Given the description of an element on the screen output the (x, y) to click on. 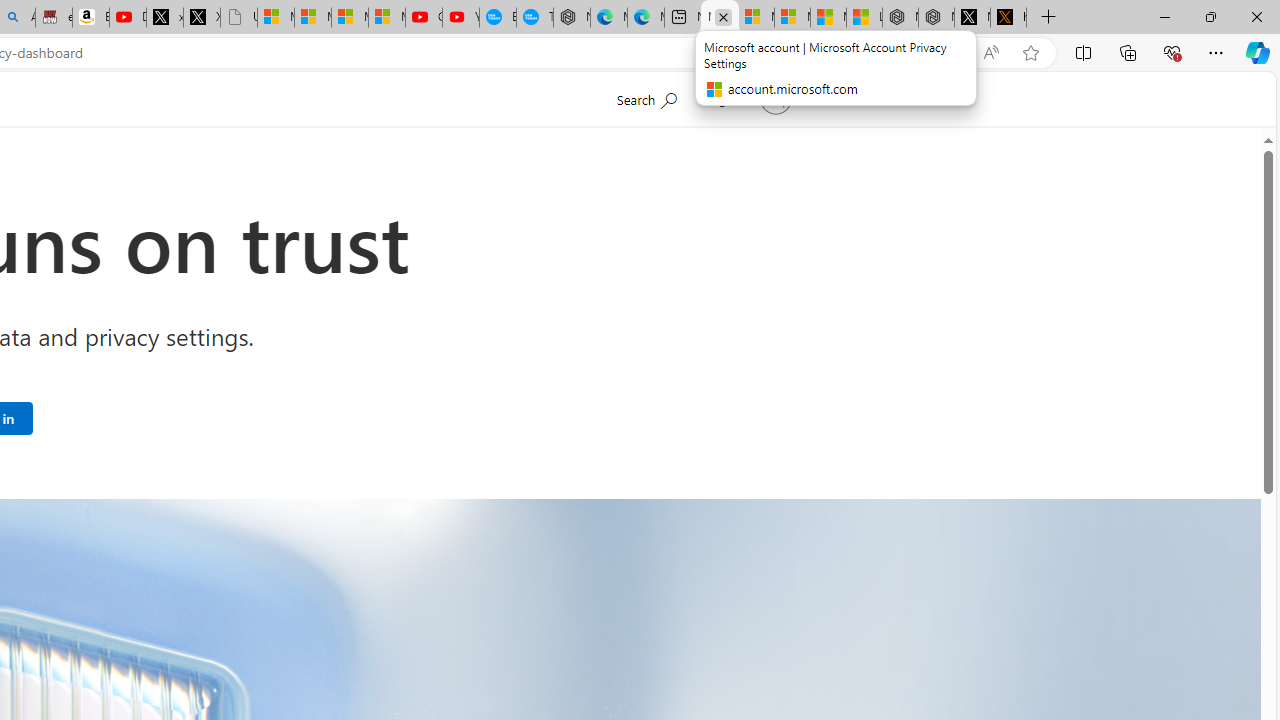
New tab (682, 17)
Close (1256, 16)
The most popular Google 'how to' searches (534, 17)
Copilot (Ctrl+Shift+.) (1258, 52)
Nordace - Nordace has arrived Hong Kong (572, 17)
Sign in to your account (748, 98)
Microsoft account | Privacy (792, 17)
Split screen (1083, 52)
Day 1: Arriving in Yemen (surreal to be here) - YouTube (127, 17)
Nordace - Summer Adventures 2024 (936, 17)
X (202, 17)
Browser essentials (1171, 52)
help.x.com | 524: A timeout occurred (1008, 17)
